Given the description of an element on the screen output the (x, y) to click on. 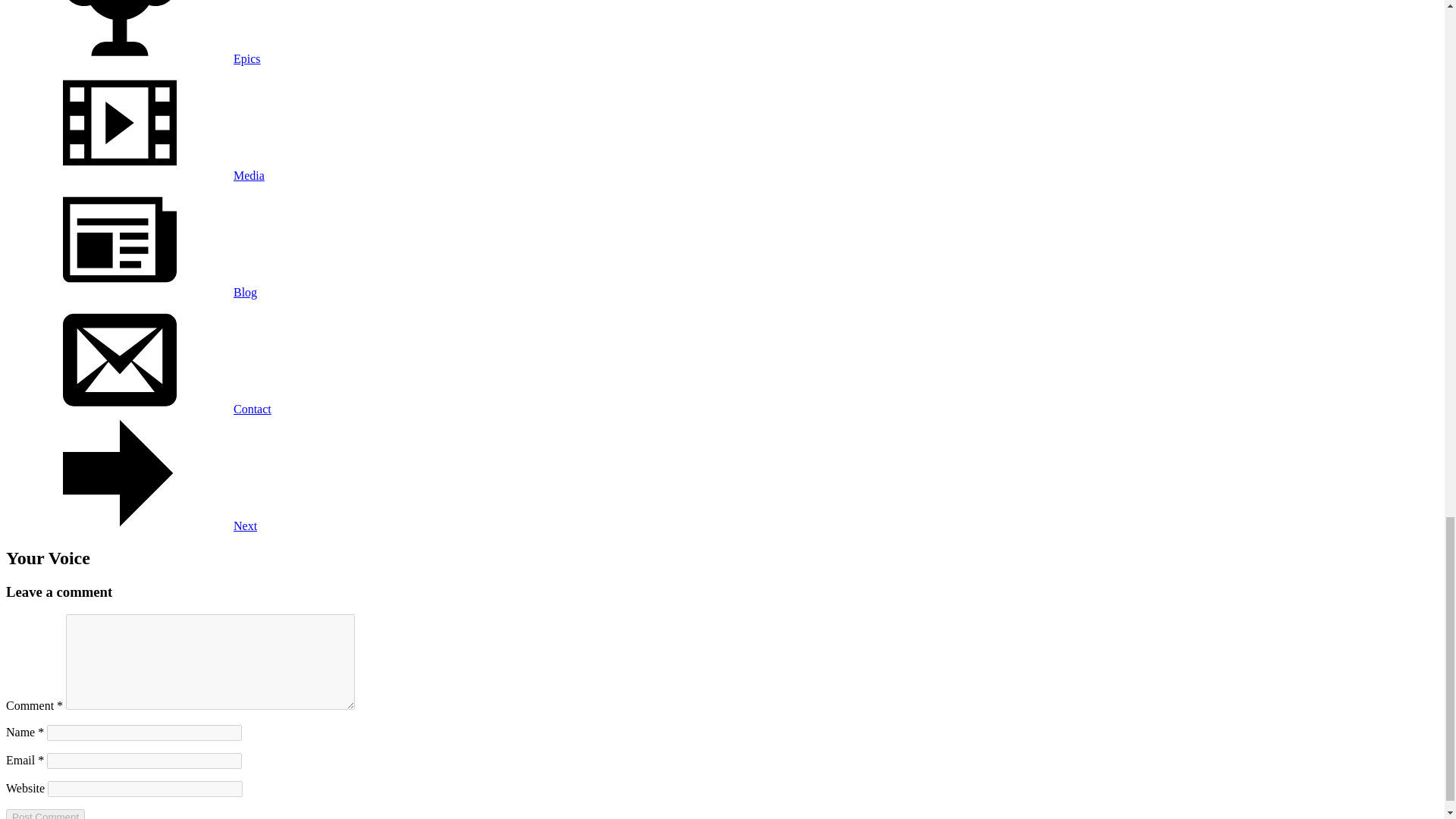
Blog (118, 239)
EpicsEpics (132, 58)
Next blog post: Davis Double Century (118, 472)
ContactContact (137, 408)
Epics (118, 31)
Next blog post: Davis Double CenturyNext (131, 525)
Media (118, 122)
MediaMedia (134, 174)
Contact (118, 356)
BlogBlog (131, 291)
